Given the description of an element on the screen output the (x, y) to click on. 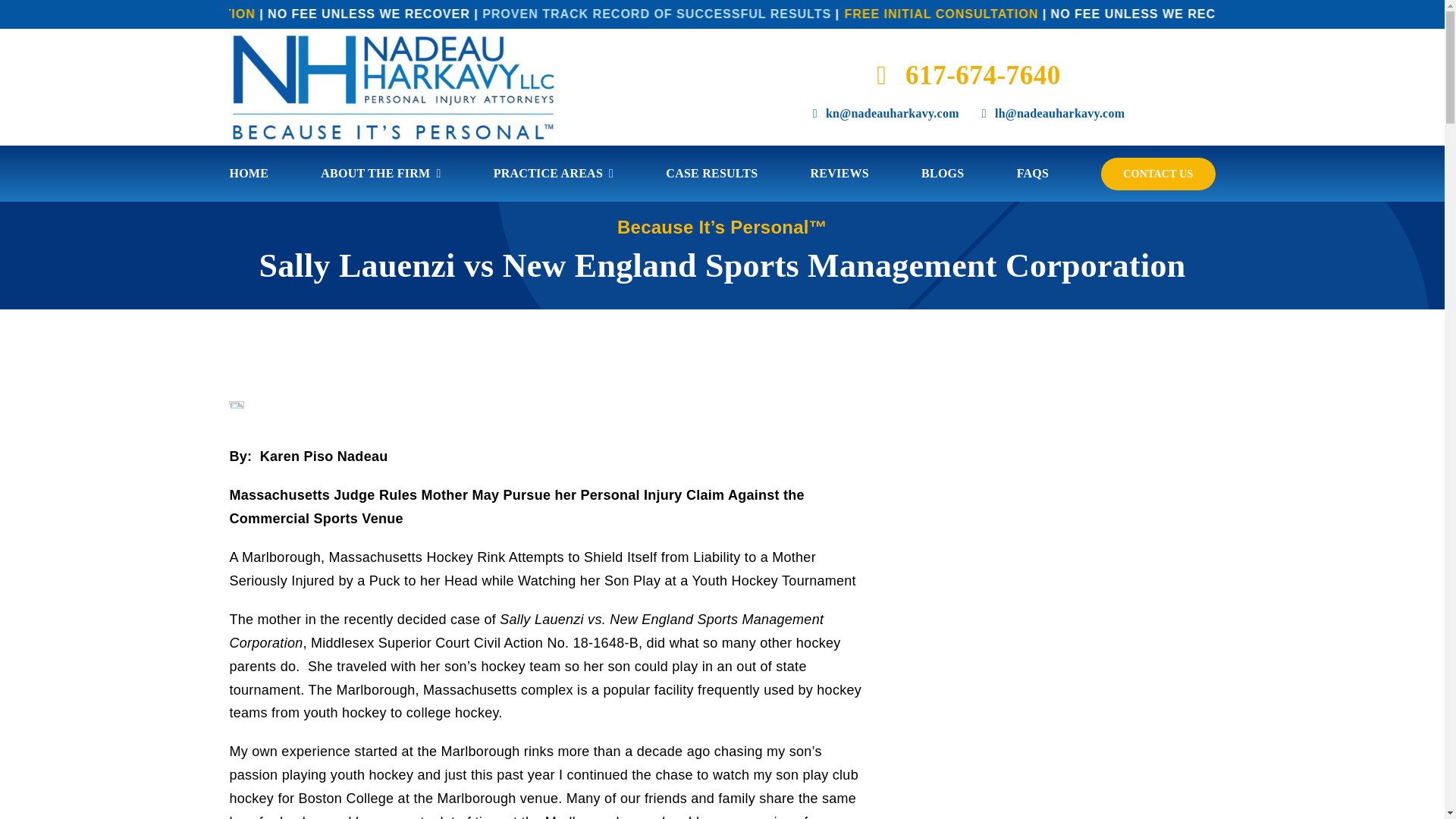
HOME (247, 173)
617-674-7640 (967, 75)
ABOUT THE FIRM (380, 173)
PRACTICE AREAS (552, 173)
